Given the description of an element on the screen output the (x, y) to click on. 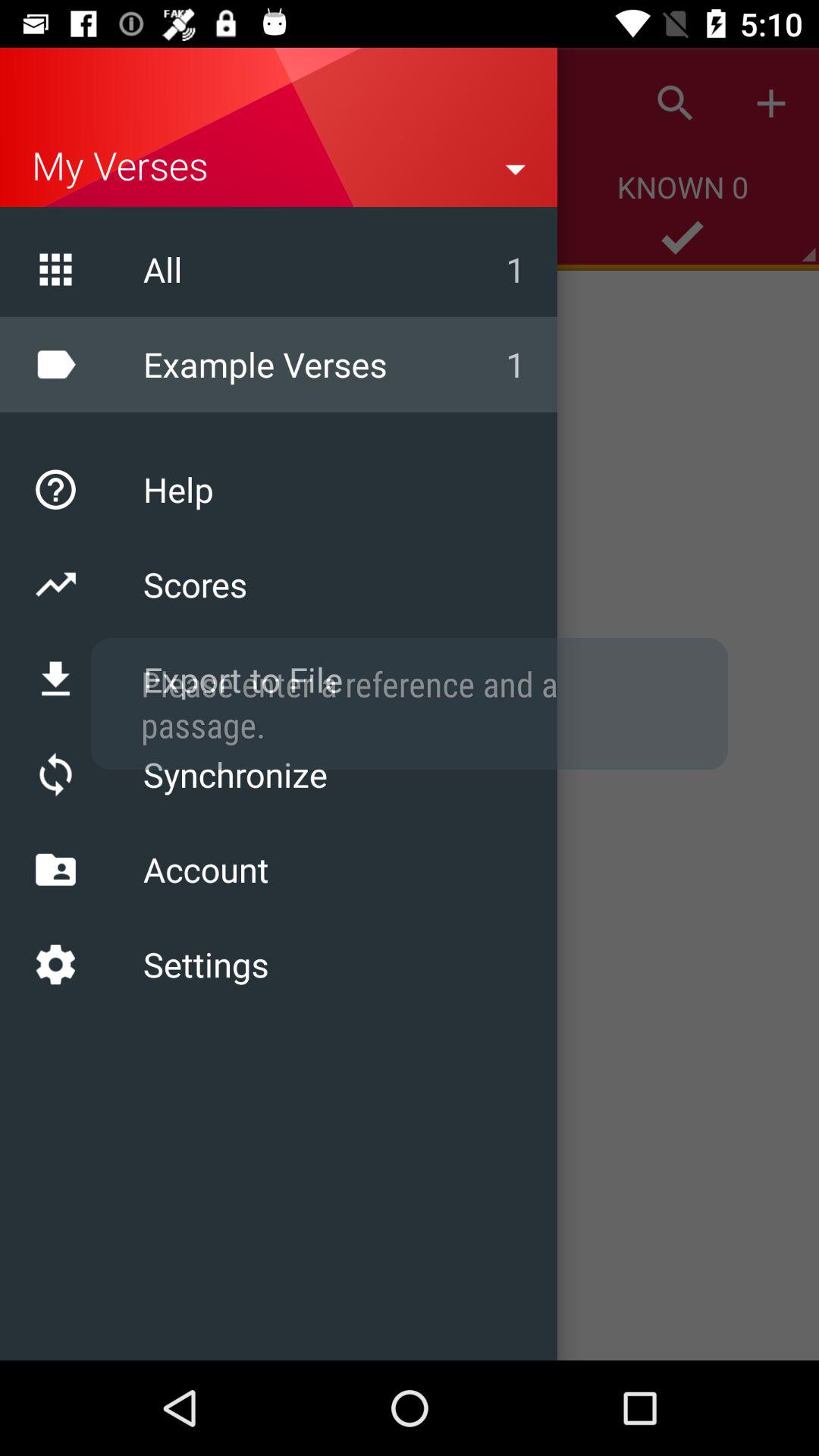
click on the plus icon top right corner of page (771, 103)
select download icon which is above refresh icon on the page (55, 679)
